Given the description of an element on the screen output the (x, y) to click on. 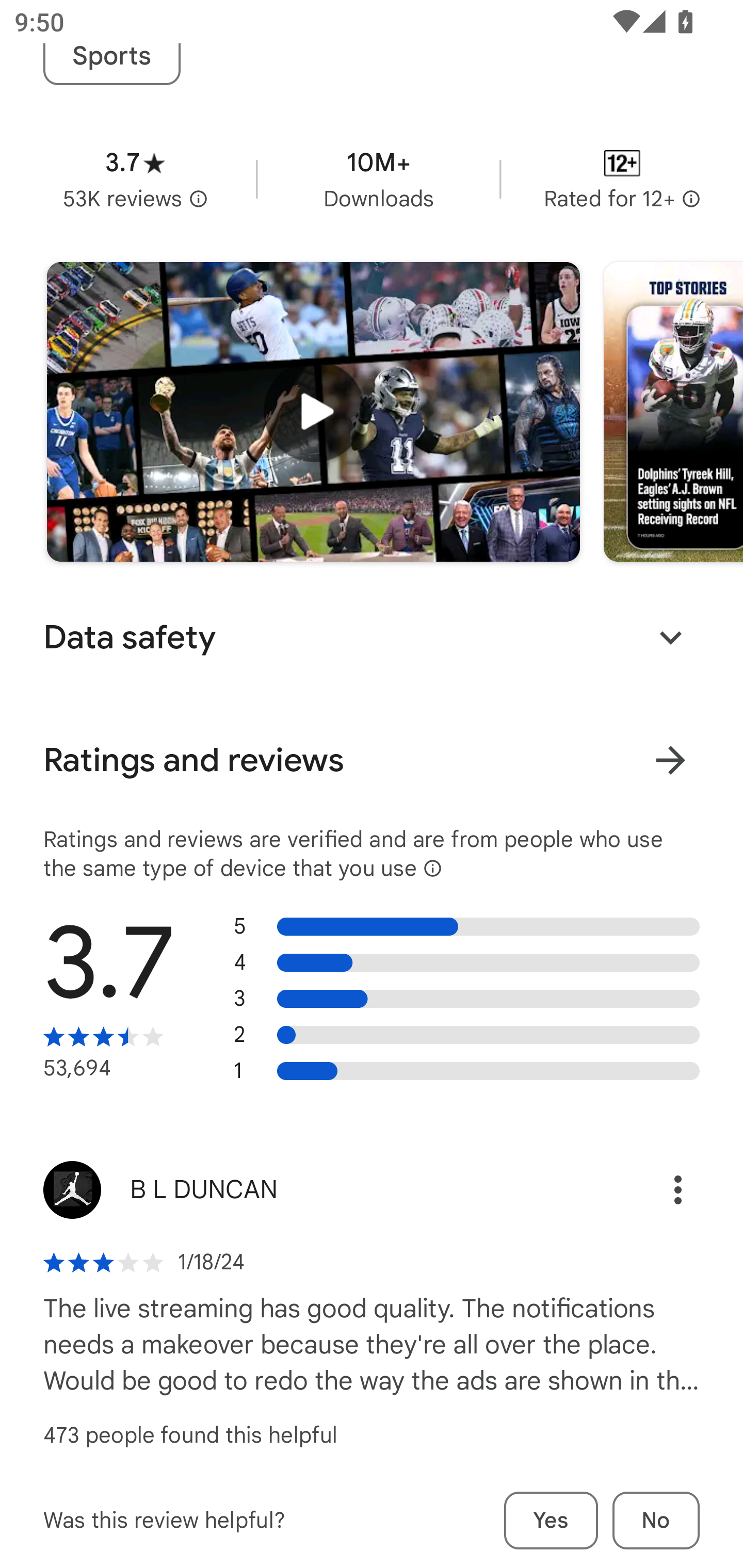
Average rating 3.7 stars in 53 thousand reviews (135, 178)
Content rating Rated for 12+ (622, 178)
Play trailer for "FOX Sports: Watch Live" (313, 411)
Data safety Expand (371, 637)
Expand (670, 637)
Ratings and reviews View all ratings and reviews (371, 760)
View all ratings and reviews (670, 759)
Options (655, 1190)
Yes (550, 1520)
No (655, 1520)
